Given the description of an element on the screen output the (x, y) to click on. 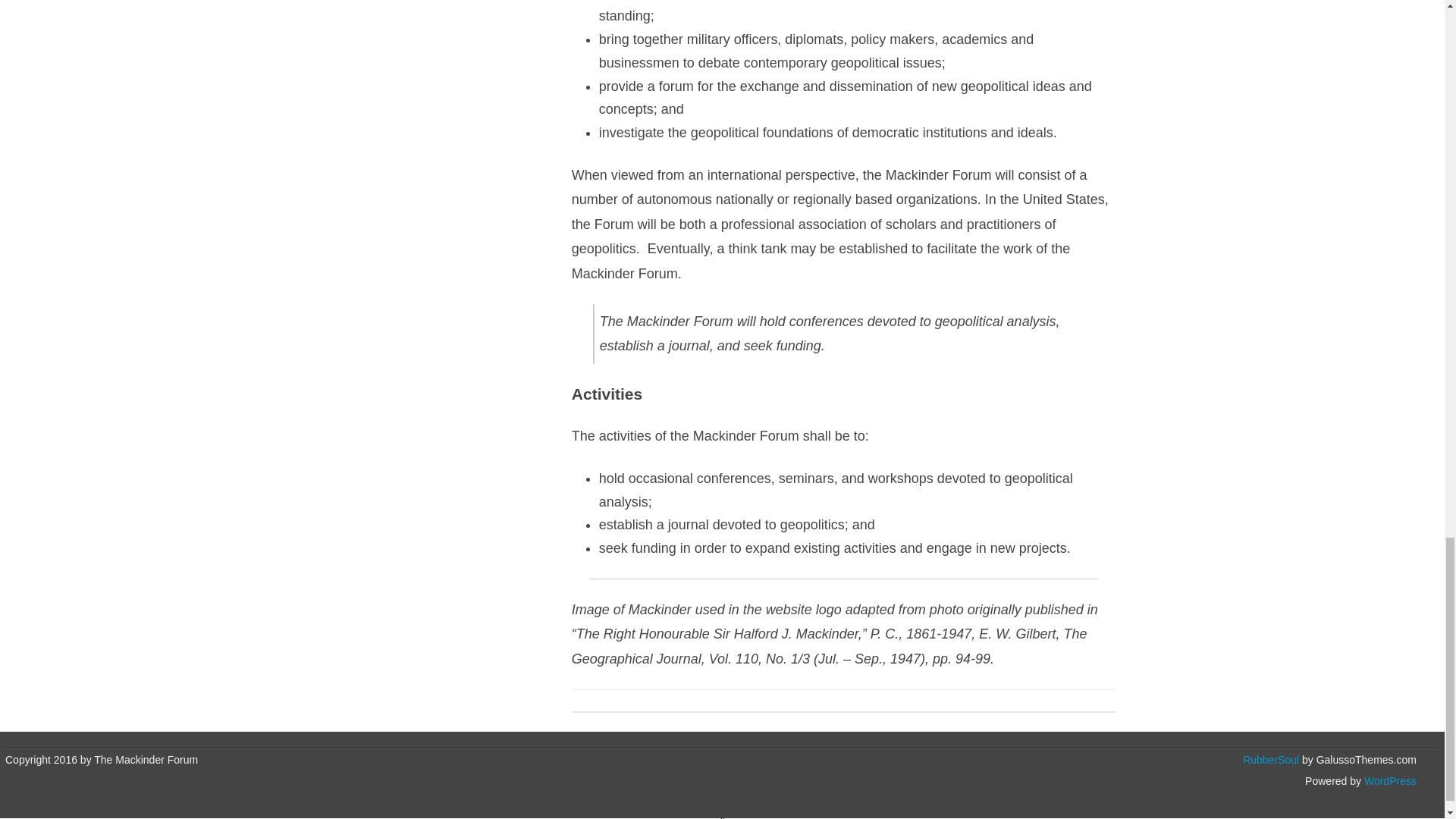
Semantic Personal Publishing Platform (1388, 780)
RubberSoul (1270, 759)
WordPress (1388, 780)
